Given the description of an element on the screen output the (x, y) to click on. 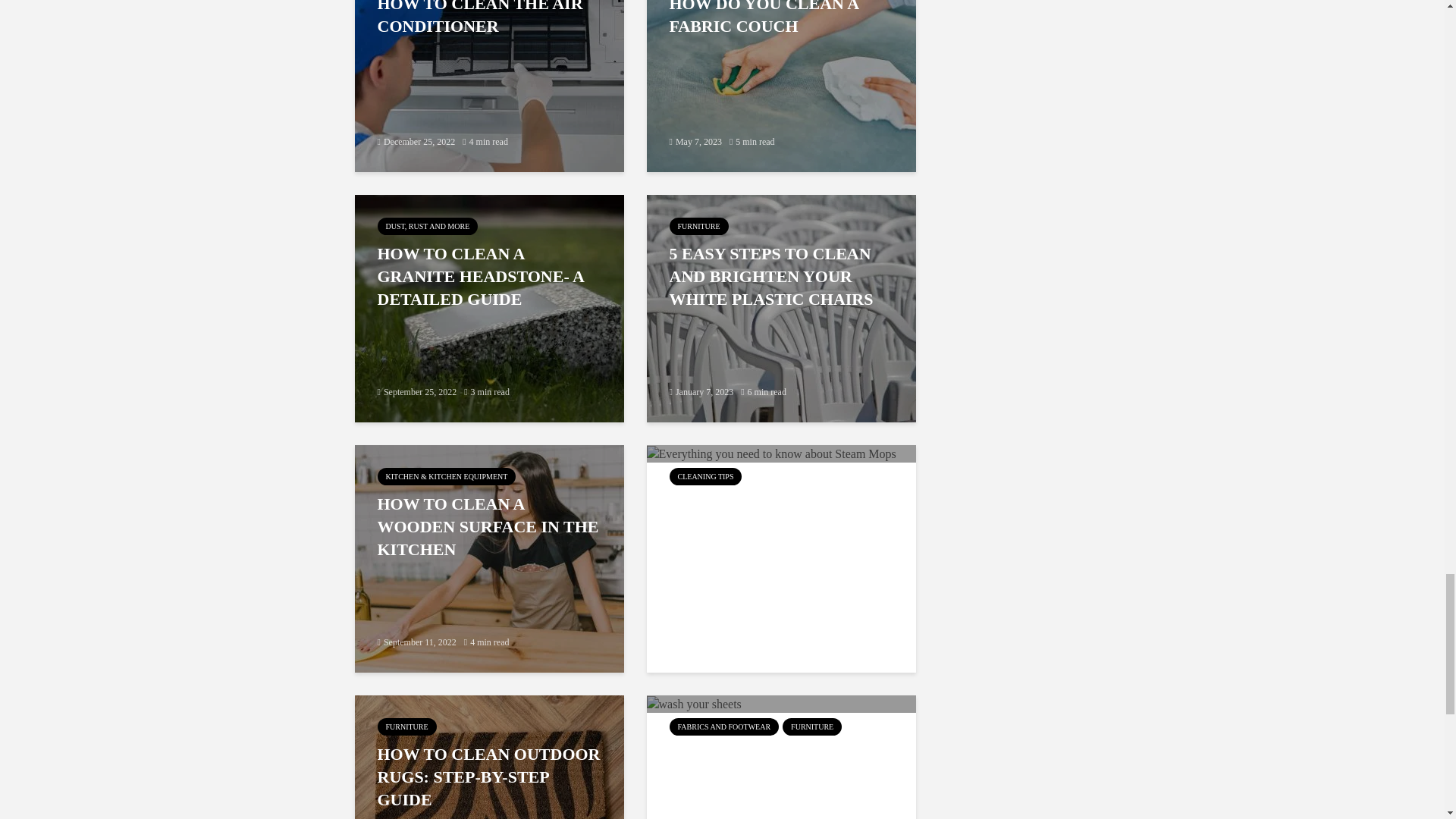
5 Easy Steps to Clean and Brighten Your White Plastic Chairs (780, 307)
How to Clean a Granite Headstone- A Detailed Guide (489, 307)
How to Clean a Wooden Surface in the Kitchen (489, 557)
How to Clean the Air Conditioner (489, 56)
Everything you need to know about Steam Mops (770, 452)
How Do You Clean A Fabric Couch (780, 56)
